Given the description of an element on the screen output the (x, y) to click on. 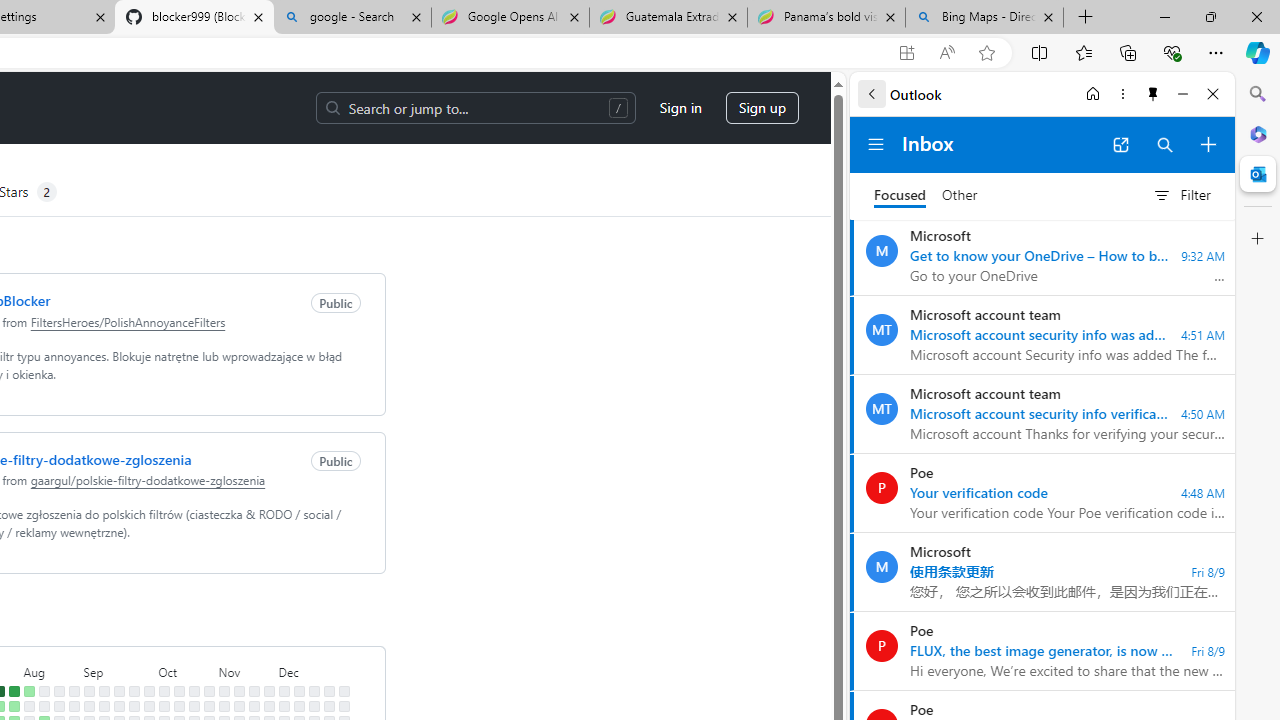
No contributions on October 28th. (209, 706)
No contributions on September 22nd. (133, 691)
No contributions on August 19th. (58, 706)
No contributions on September 2nd. (88, 706)
